Given the description of an element on the screen output the (x, y) to click on. 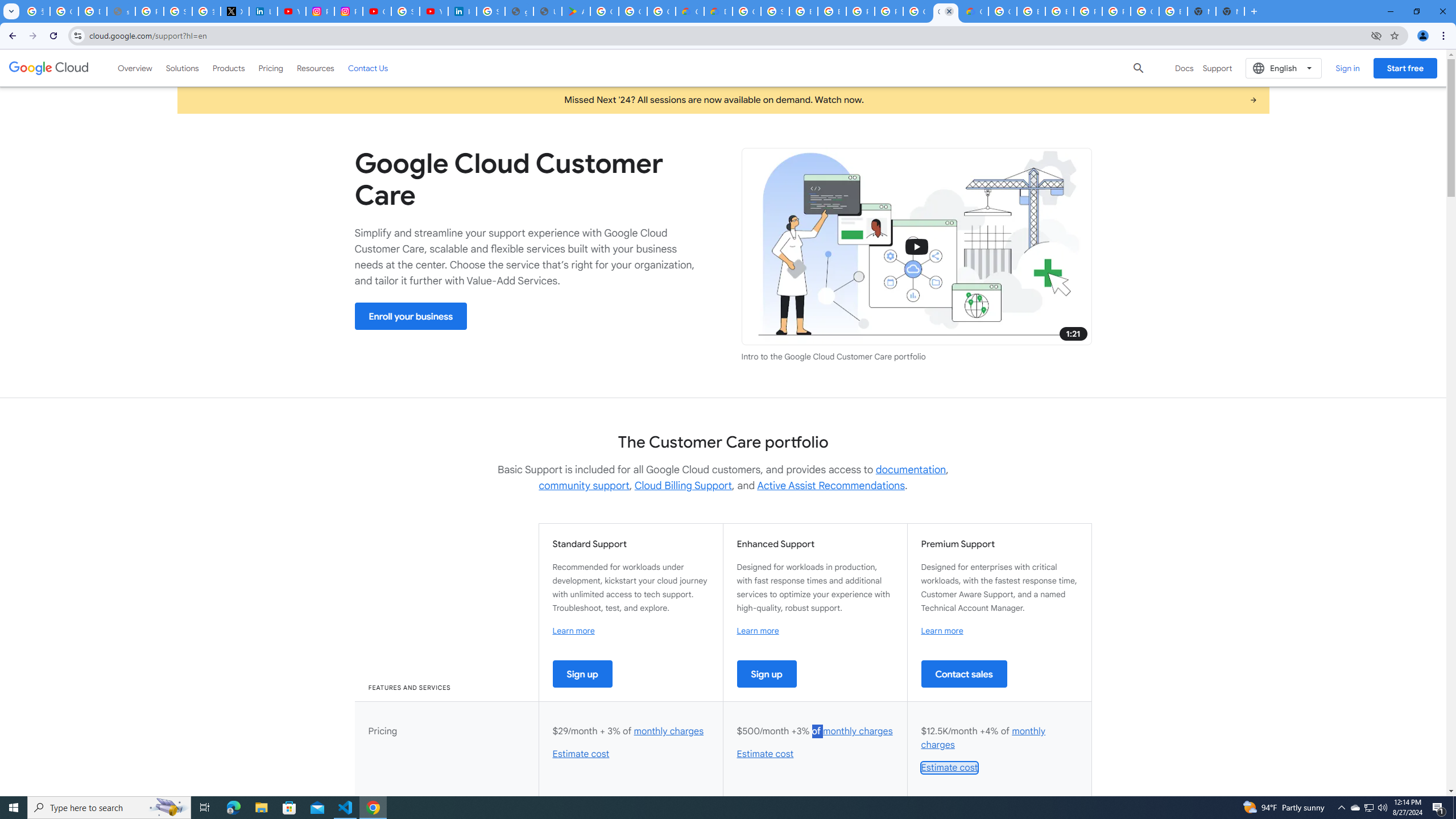
Sign up (766, 673)
Pricing (270, 67)
Sign in - Google Accounts (178, 11)
Sign in - Google Accounts (774, 11)
Identity verification via Persona | LinkedIn Help (461, 11)
User Details (547, 11)
Estimate cost (949, 767)
Google Workspace - Specific Terms (661, 11)
YouTube Content Monetization Policies - How YouTube Works (291, 11)
Sign in - Google Accounts (405, 11)
Sign in - Google Accounts (490, 11)
